Given the description of an element on the screen output the (x, y) to click on. 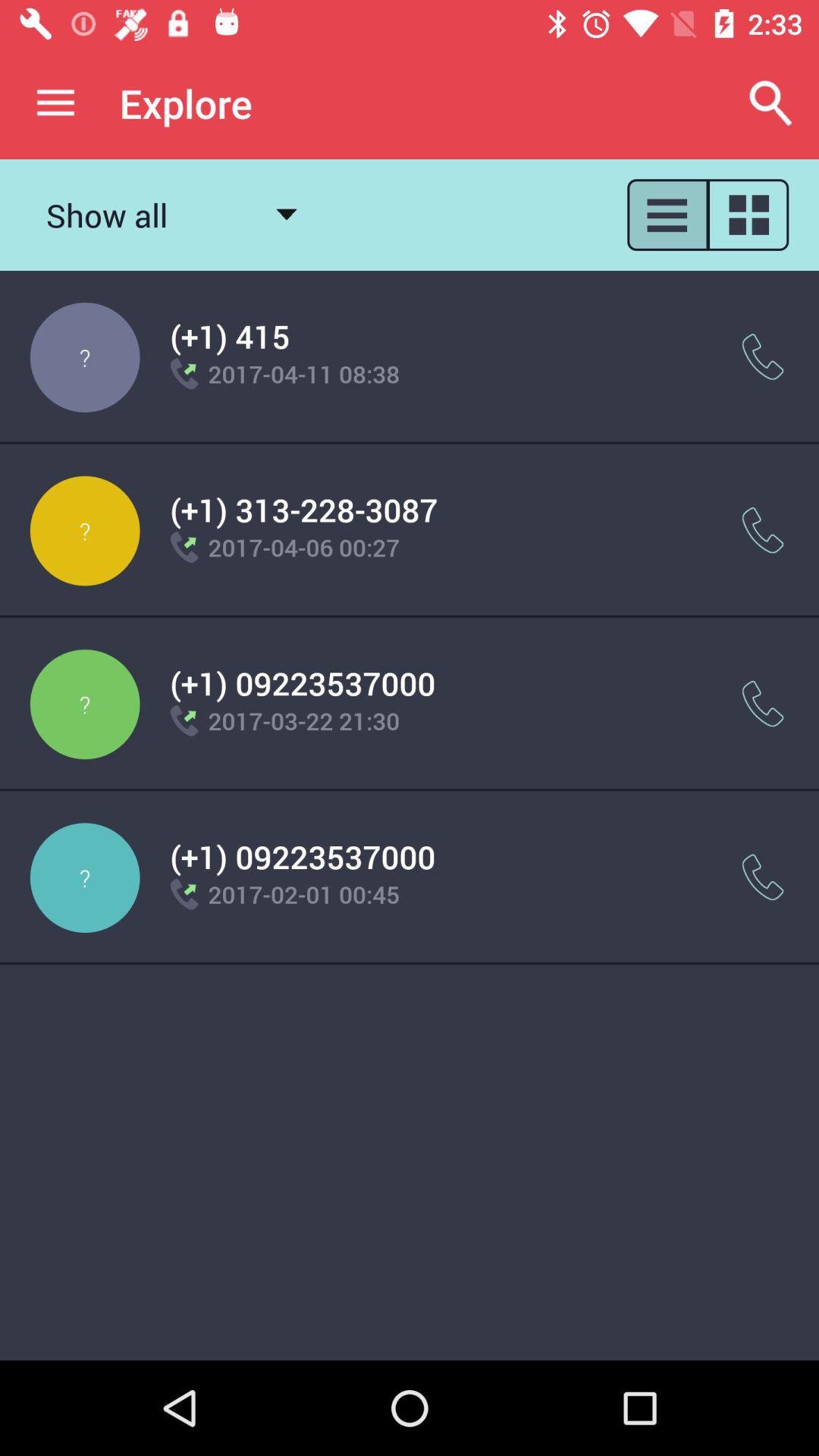
select item next to 1 313 228 item (762, 530)
